Given the description of an element on the screen output the (x, y) to click on. 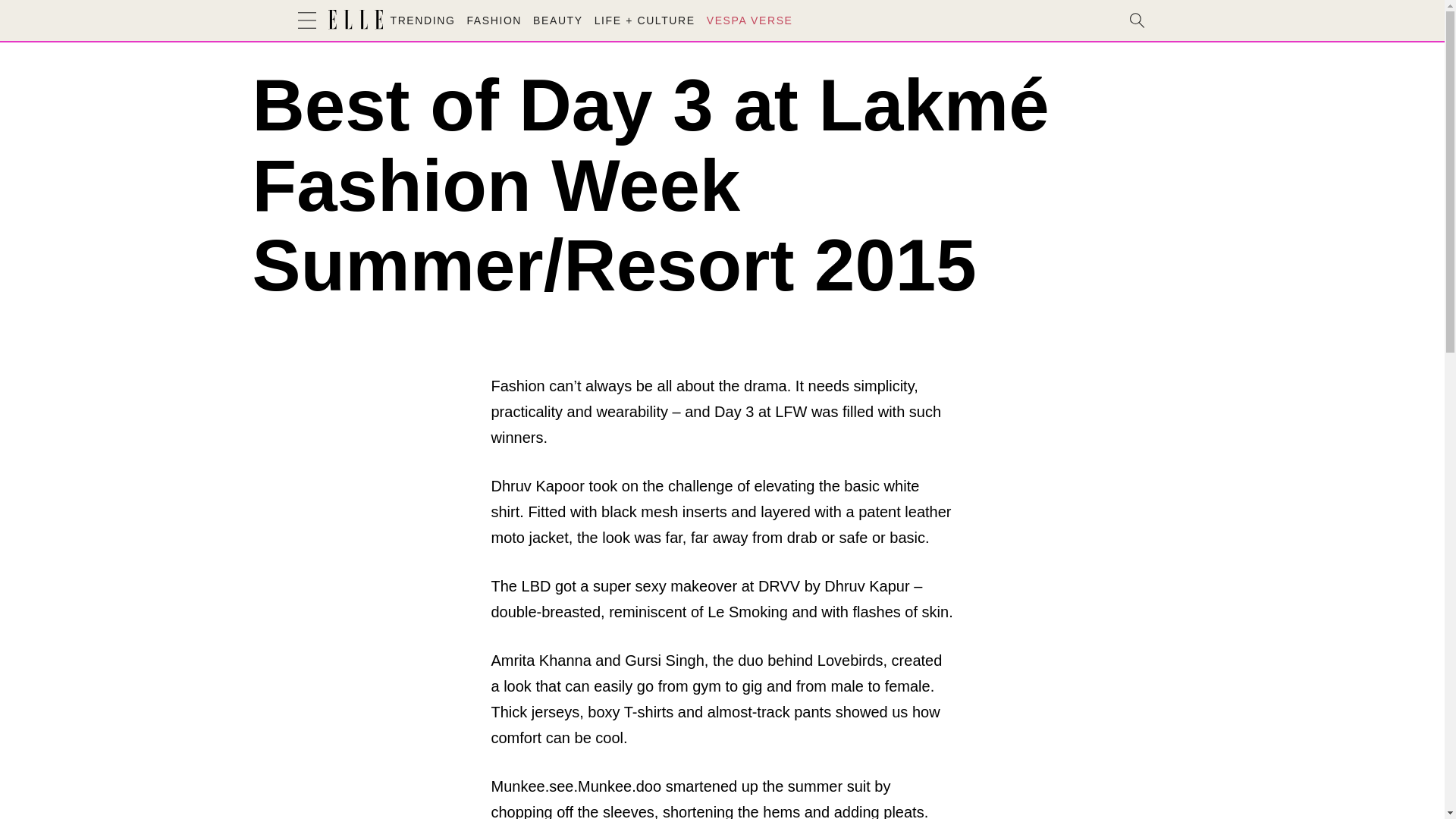
VESPA VERSE (749, 20)
TRENDING (422, 20)
FASHION (493, 20)
BEAUTY (557, 20)
